Given the description of an element on the screen output the (x, y) to click on. 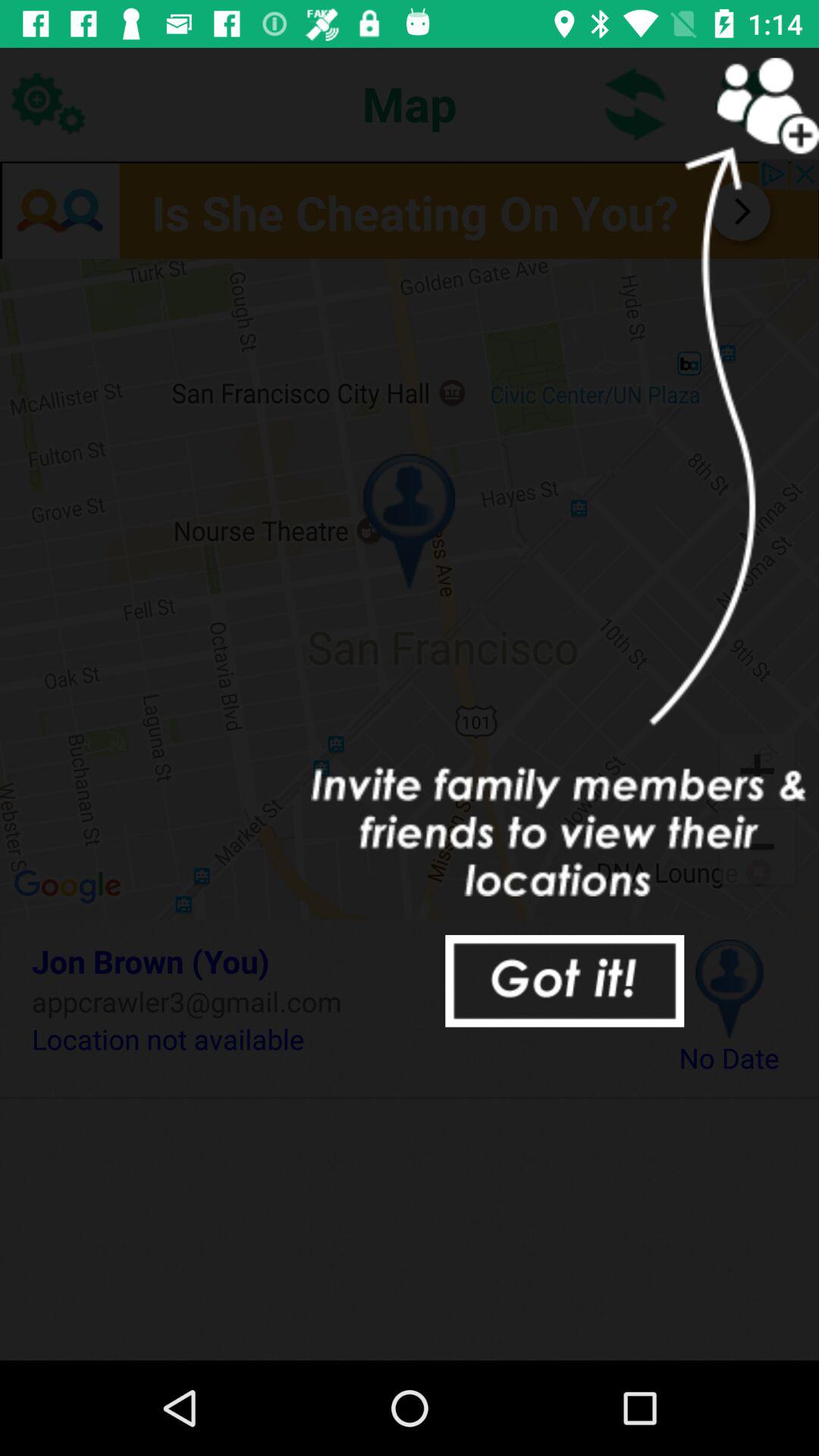
settings (47, 103)
